Given the description of an element on the screen output the (x, y) to click on. 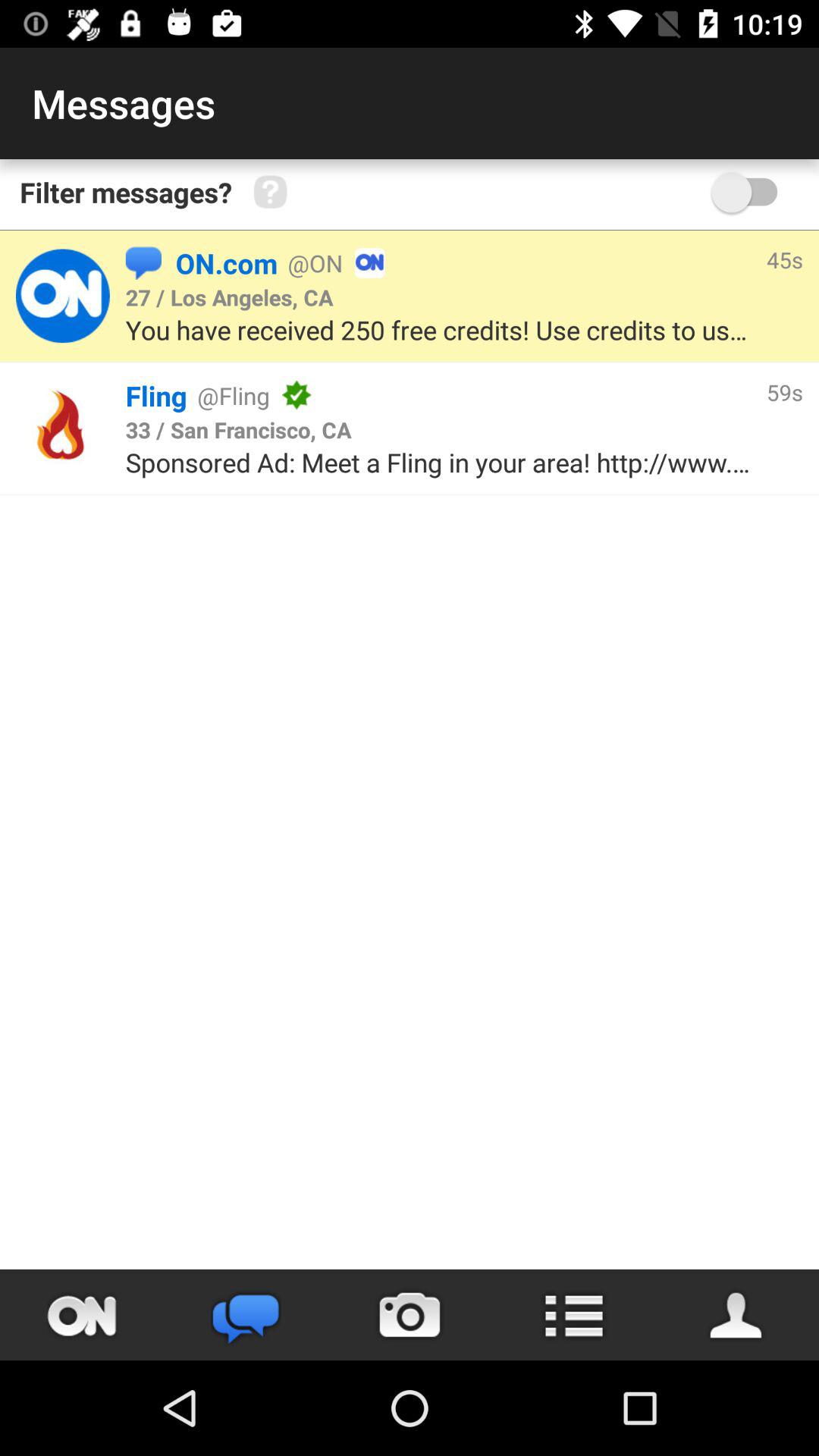
take photo (409, 1315)
